Given the description of an element on the screen output the (x, y) to click on. 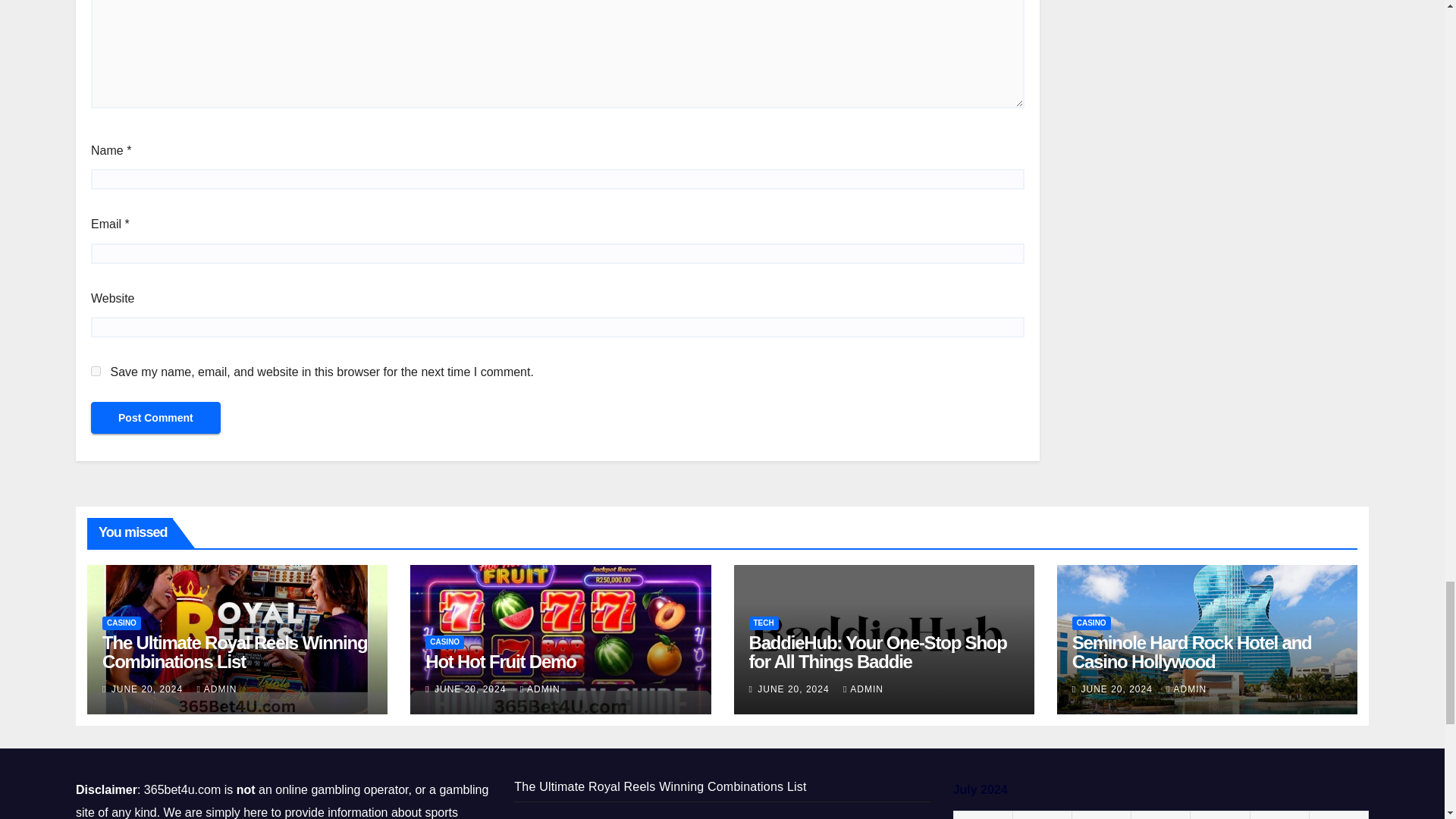
Post Comment (155, 418)
yes (95, 370)
